Given the description of an element on the screen output the (x, y) to click on. 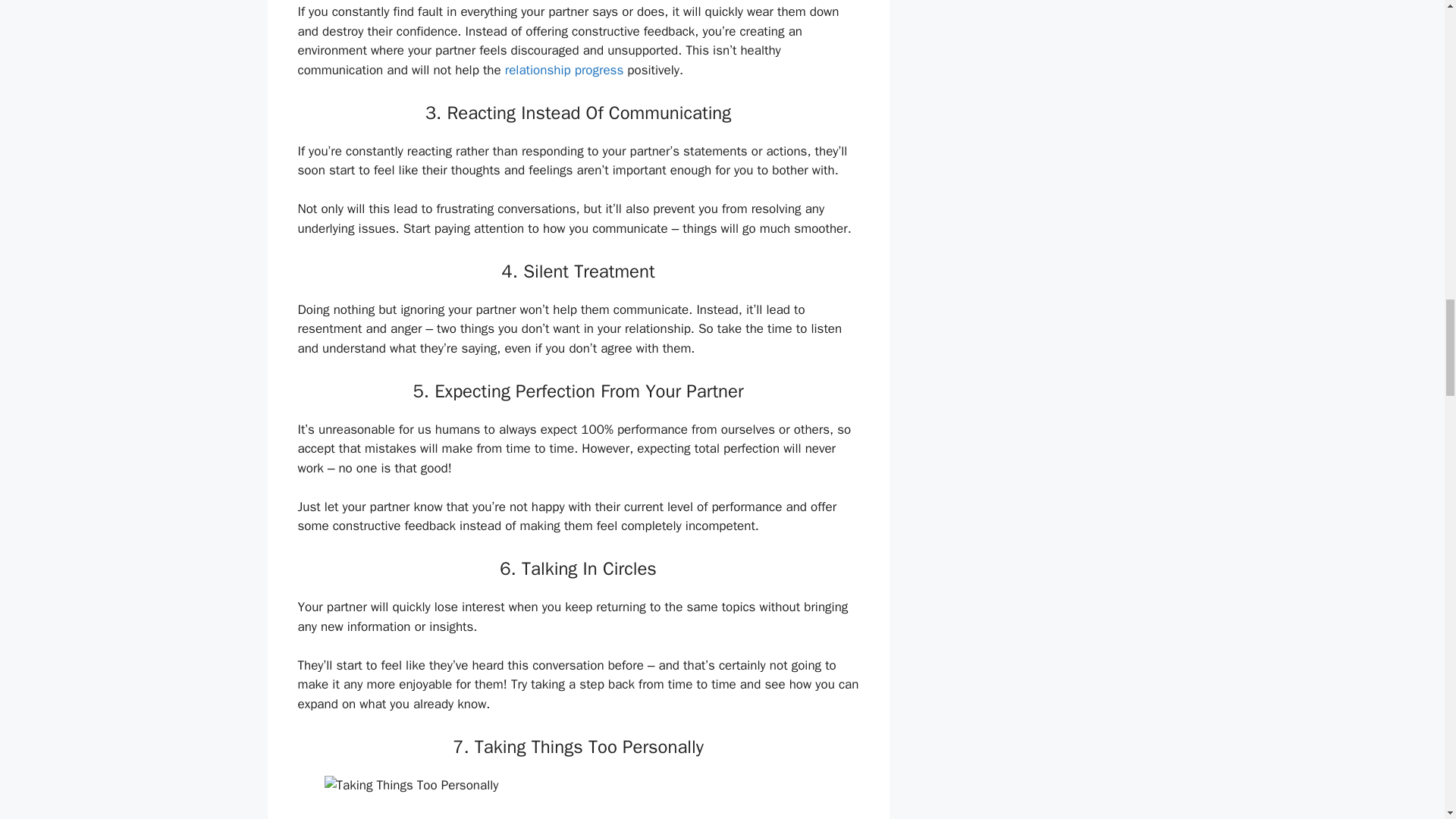
relationship progress (562, 69)
